Given the description of an element on the screen output the (x, y) to click on. 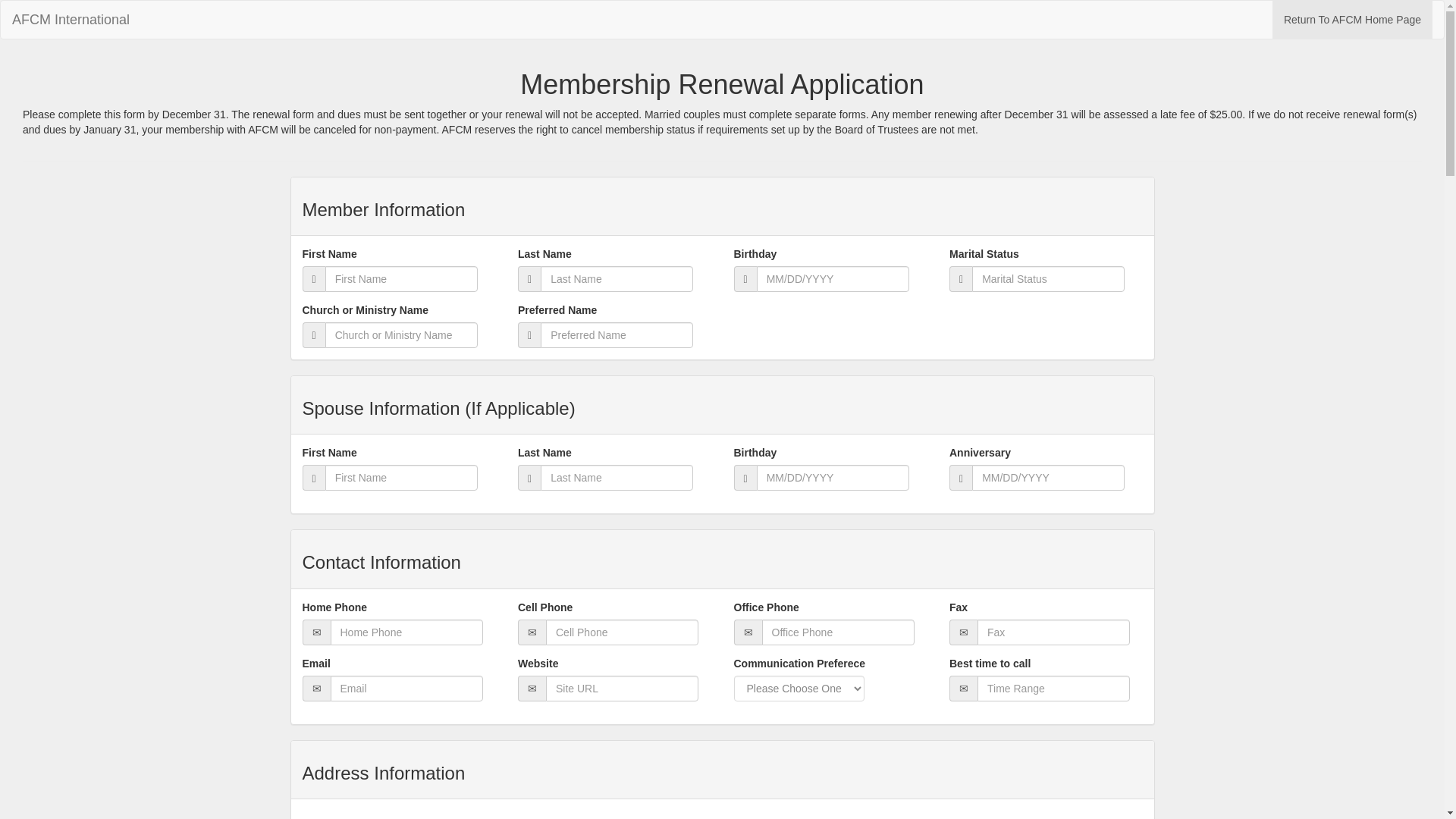
AFCM International (71, 19)
